Given the description of an element on the screen output the (x, y) to click on. 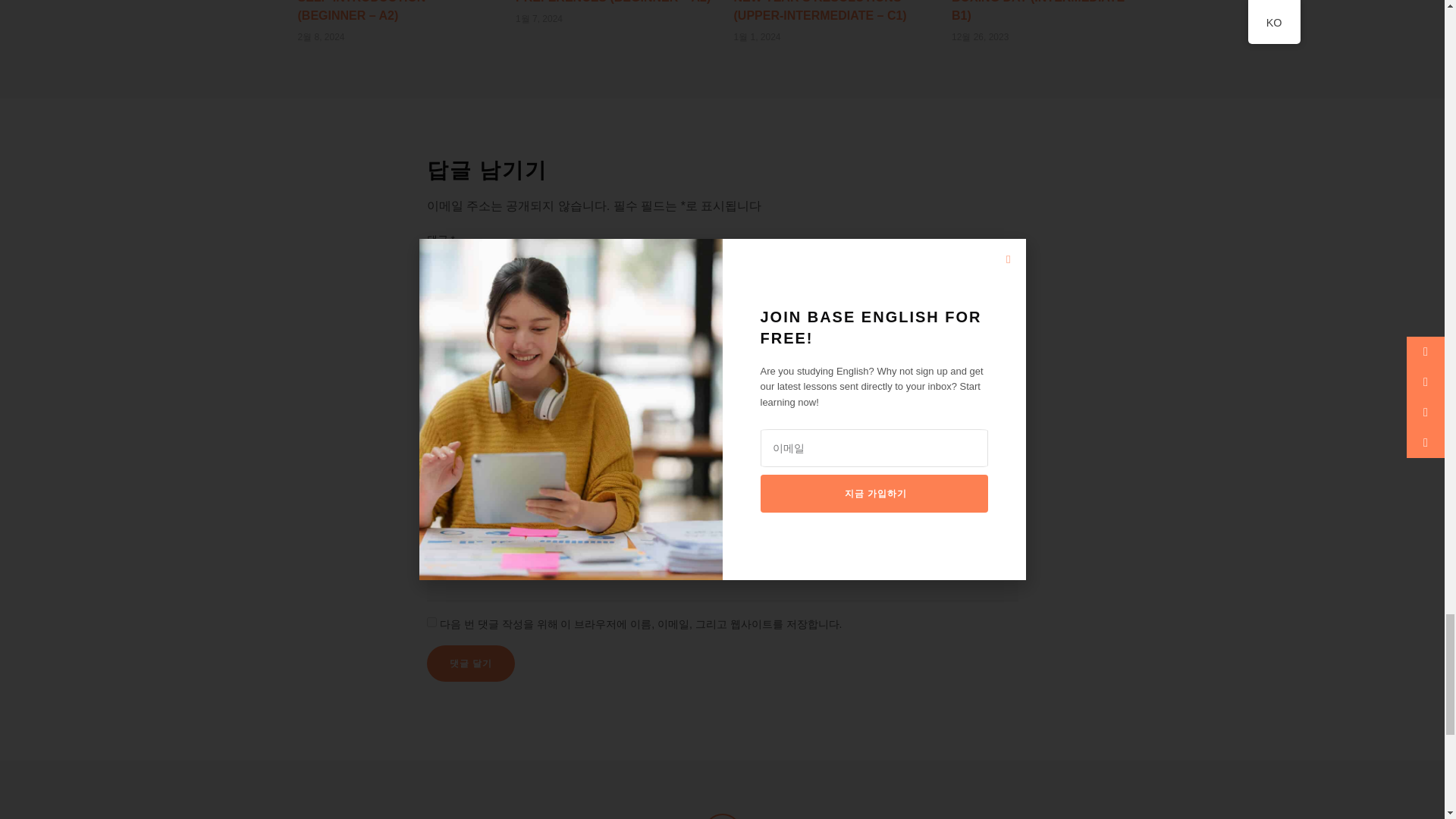
yes (430, 622)
